Given the description of an element on the screen output the (x, y) to click on. 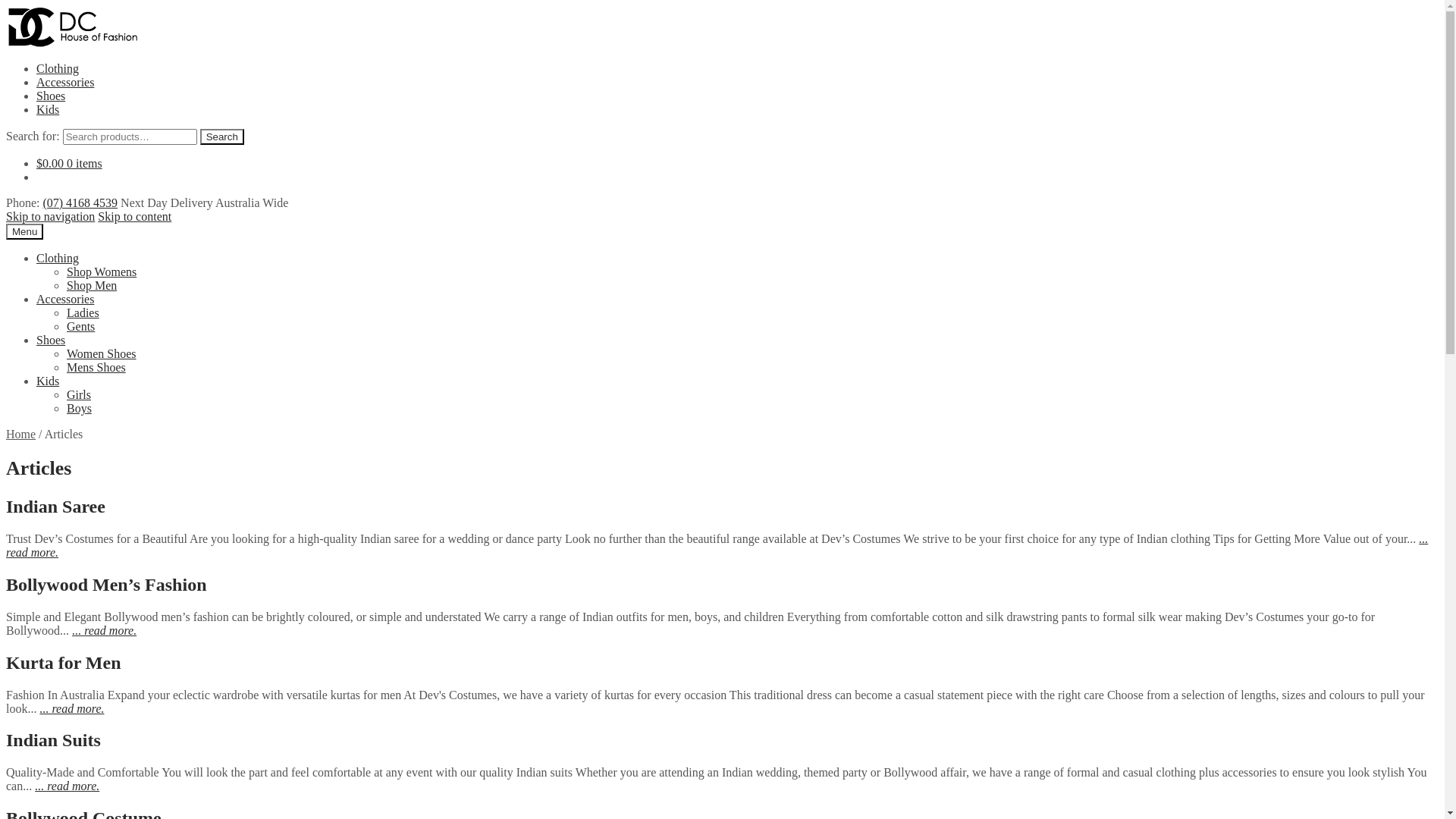
Skip to navigation Element type: text (50, 216)
Women Shoes Element type: text (101, 353)
Girls Element type: text (78, 394)
... read more. Element type: text (66, 785)
Mens Shoes Element type: text (95, 366)
Boys Element type: text (78, 407)
Shop Men Element type: text (91, 285)
Clothing Element type: text (57, 68)
Search Element type: text (222, 136)
Accessories Element type: text (65, 81)
$0.00 0 items Element type: text (69, 162)
Home Element type: text (20, 433)
Kids Element type: text (47, 380)
Shoes Element type: text (50, 339)
Gents Element type: text (80, 326)
Clothing Element type: text (57, 257)
Shoes Element type: text (50, 95)
Ladies Element type: text (82, 312)
(07) 4168 4539 Element type: text (79, 202)
... read more. Element type: text (104, 630)
Shop Womens Element type: text (101, 271)
... read more. Element type: text (716, 545)
Accessories Element type: text (65, 298)
Kids Element type: text (47, 109)
... read more. Element type: text (71, 708)
Menu Element type: text (24, 231)
Skip to content Element type: text (134, 216)
